Given the description of an element on the screen output the (x, y) to click on. 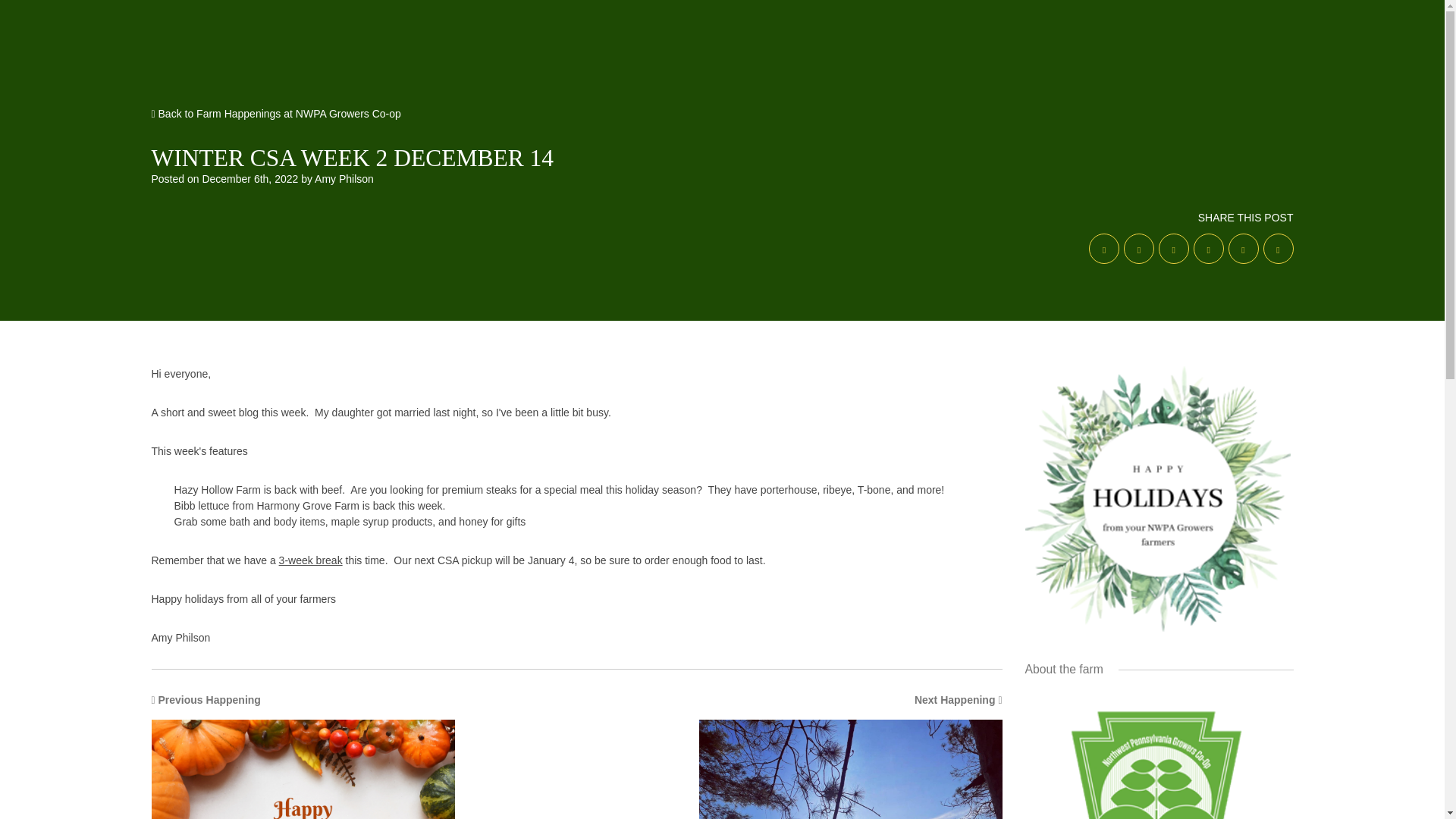
Previous Happening: Winter CSA Week 1 Nov. 30 (358, 755)
Next Happening: Winter CSA Week 3 January 4 (795, 755)
Back to Farm Happenings at NWPA Growers Co-op (358, 755)
